Given the description of an element on the screen output the (x, y) to click on. 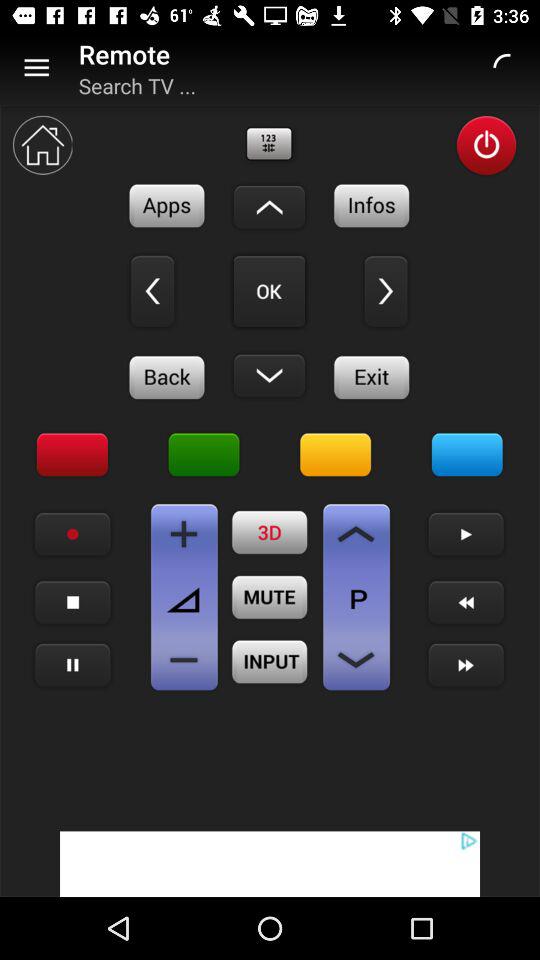
toggle pause (72, 665)
